Given the description of an element on the screen output the (x, y) to click on. 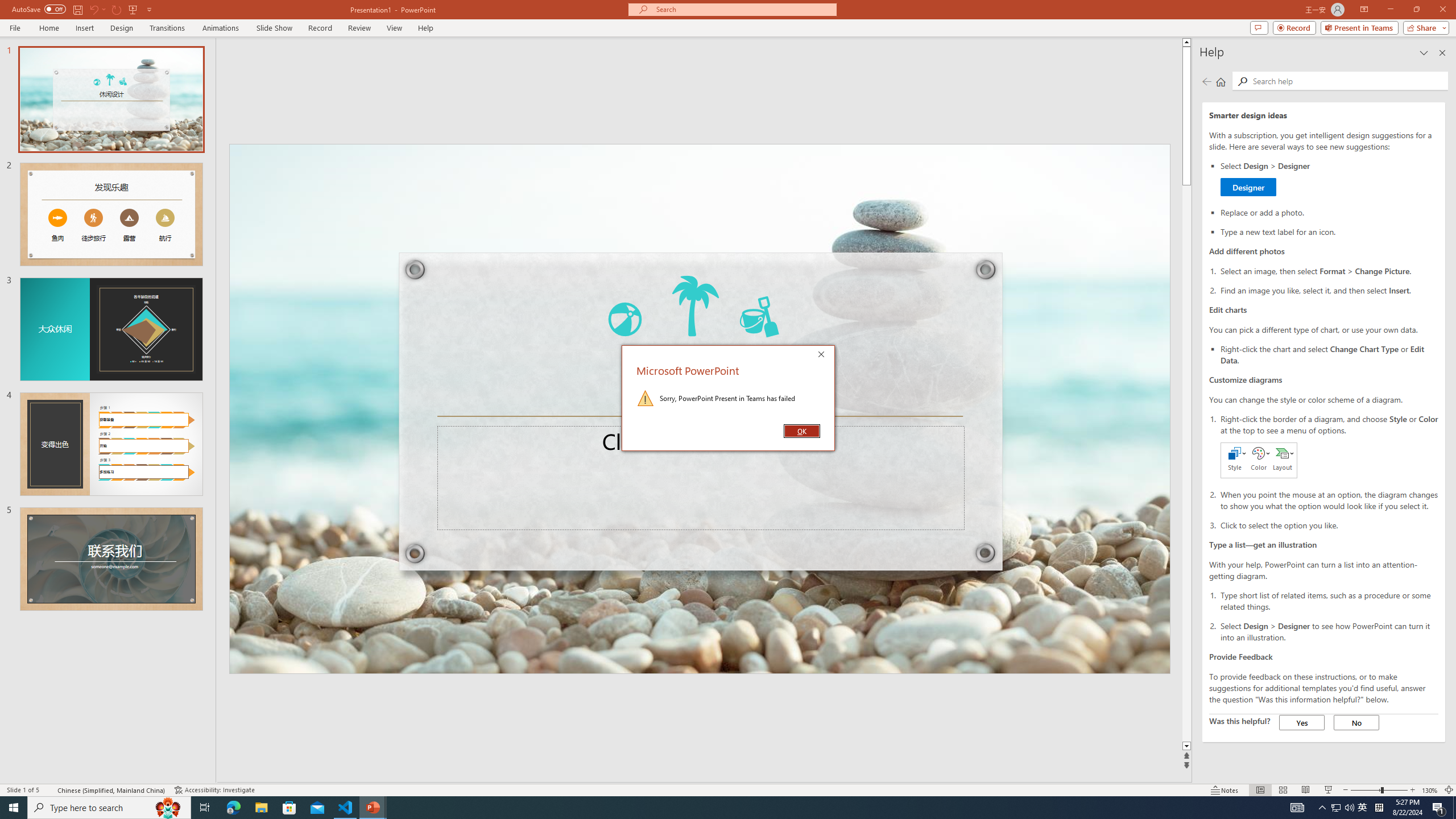
Find an image you like, select it, and then select Insert. (1329, 289)
